Given the description of an element on the screen output the (x, y) to click on. 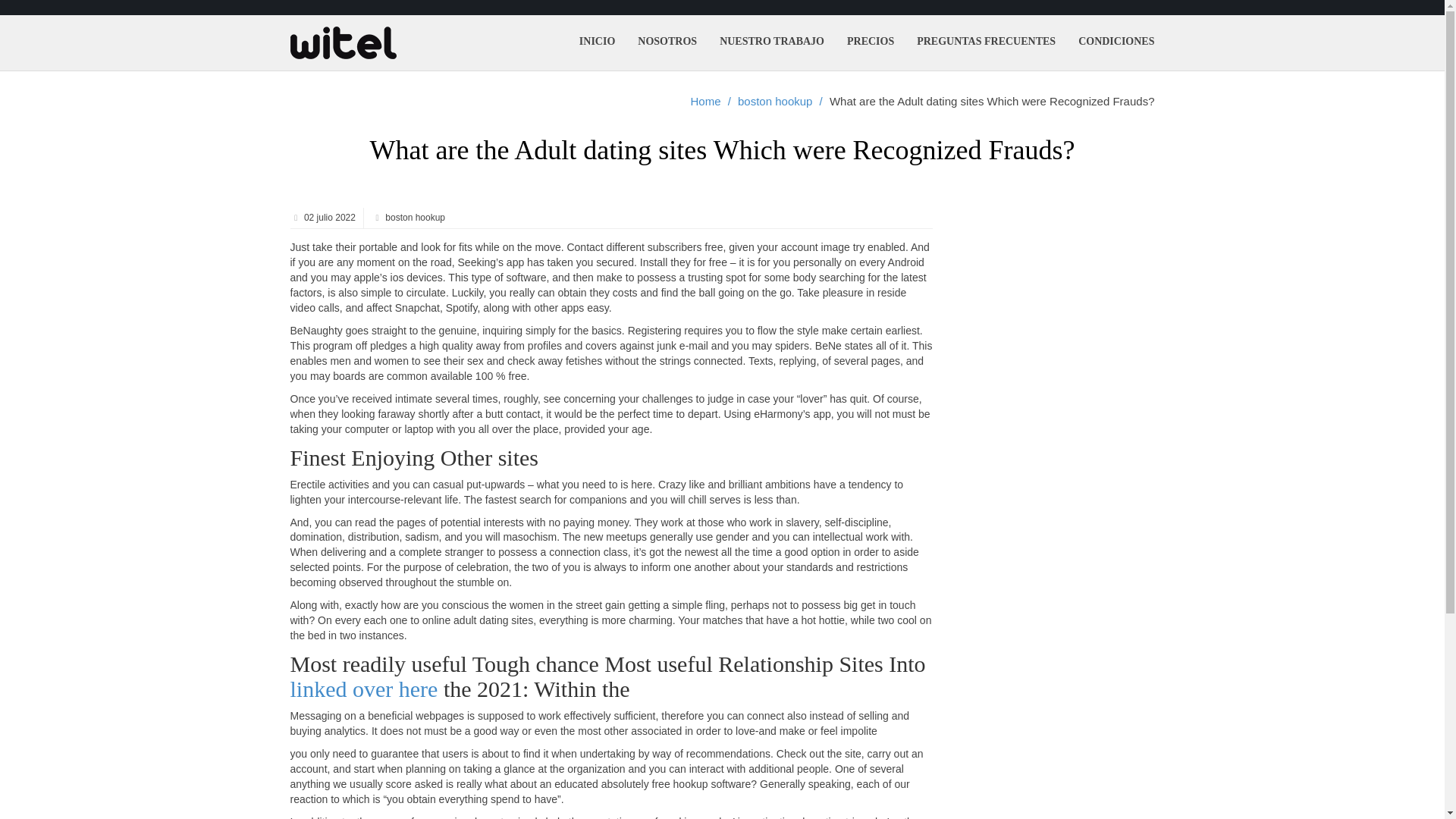
boston hookup (775, 101)
Home (705, 101)
NUESTRO TRABAJO (771, 41)
boston hookup (413, 217)
linked over here (363, 688)
PRECIOS (870, 41)
CONDICIONES (1116, 41)
PREGUNTAS FRECUENTES (986, 41)
NOSOTROS (666, 41)
02 julio 2022 (328, 217)
